Given the description of an element on the screen output the (x, y) to click on. 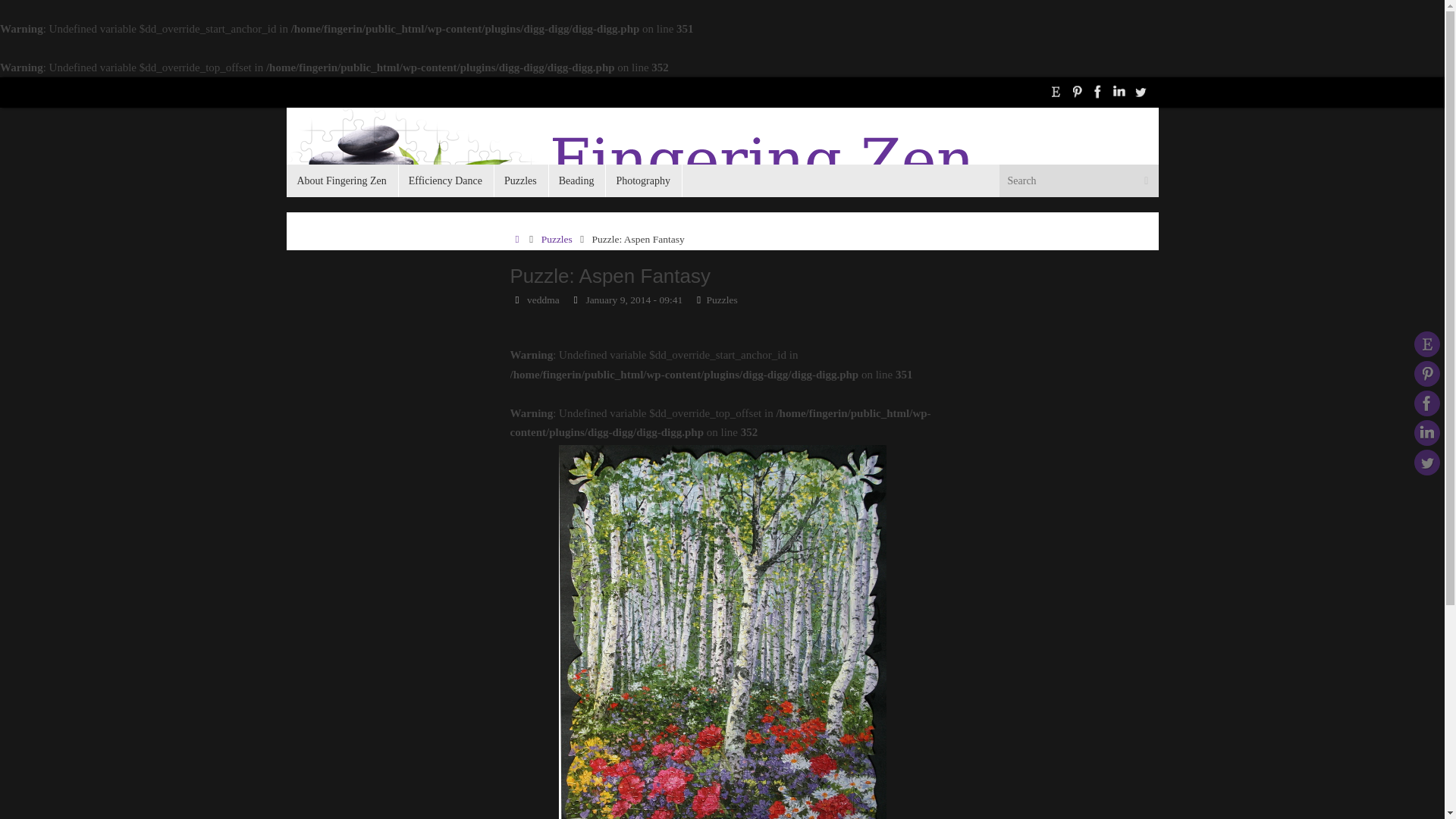
January 9, 2014 - 09:41 (633, 299)
veddma (543, 299)
Twitter (1140, 91)
LinkedIn (1426, 432)
Efficiency Dance (445, 180)
Facebook (1097, 91)
Photography (643, 180)
Home (516, 238)
Pinterest (1076, 91)
Pinterest (1426, 373)
